Given the description of an element on the screen output the (x, y) to click on. 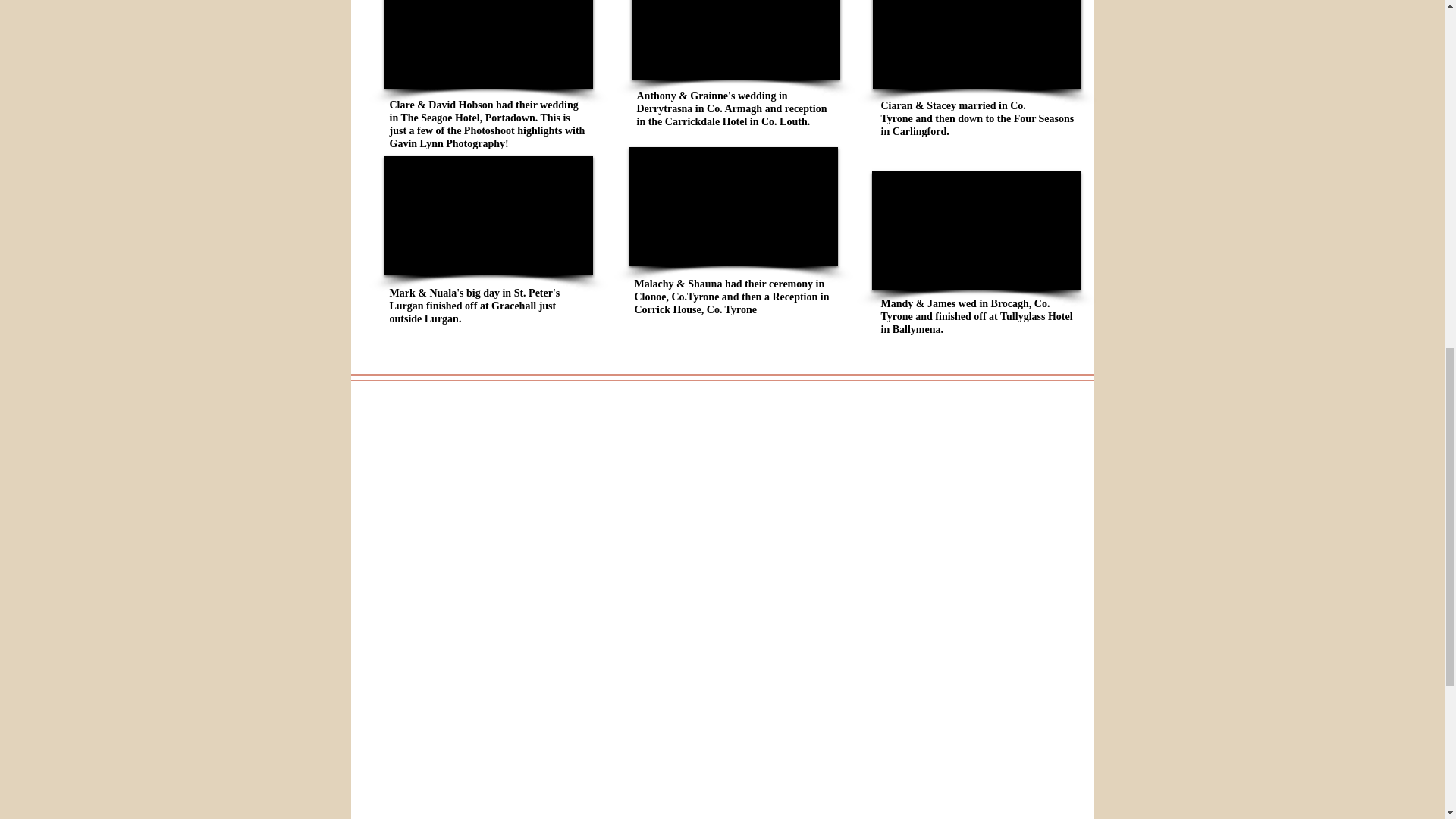
External Vimeo (488, 215)
External Vimeo (733, 206)
External Vimeo (976, 230)
External Vimeo (735, 39)
External Vimeo (976, 44)
External Vimeo (488, 44)
